Given the description of an element on the screen output the (x, y) to click on. 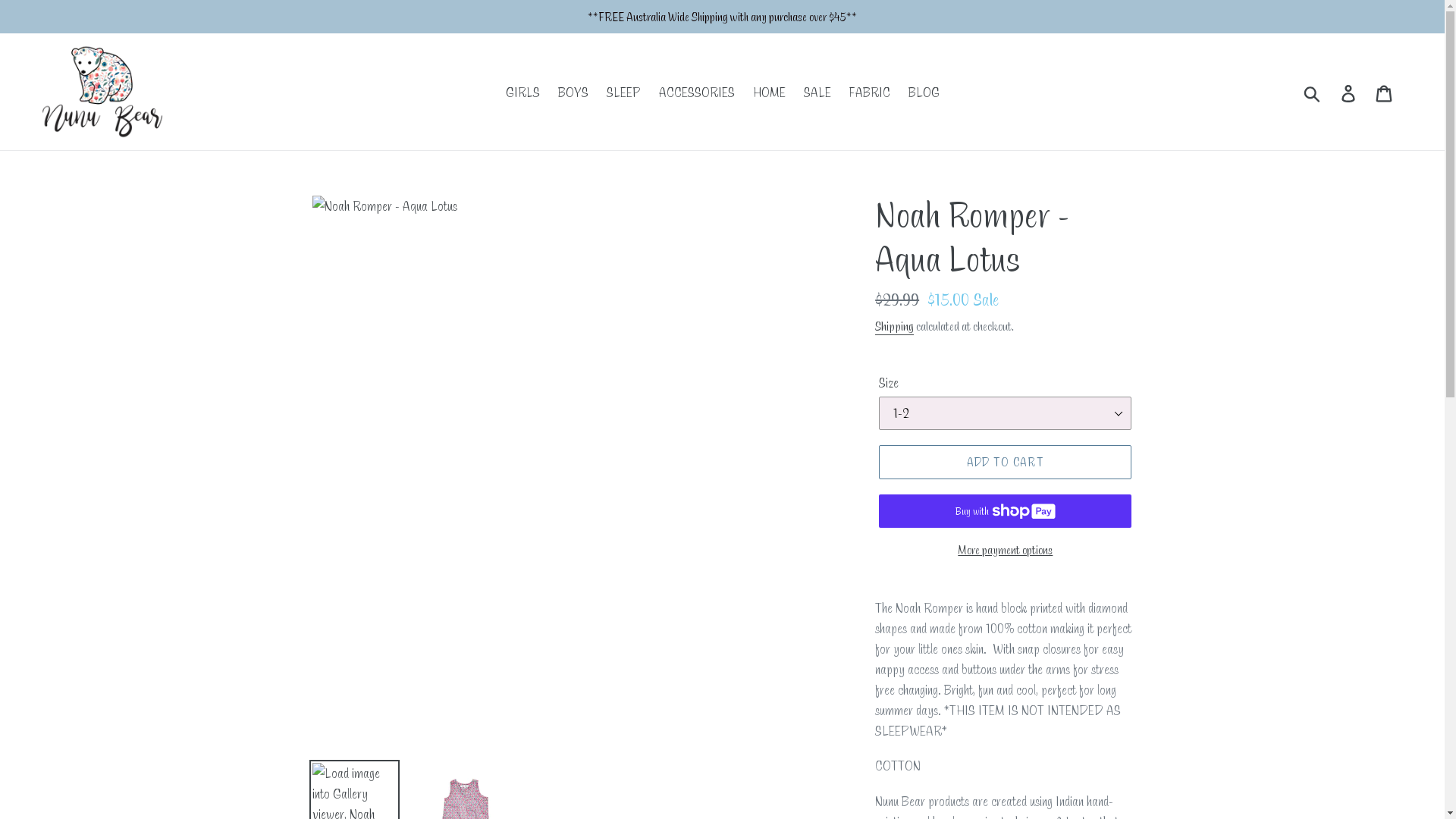
Shipping Element type: text (894, 326)
GIRLS Element type: text (521, 91)
ACCESSORIES Element type: text (695, 91)
SLEEP Element type: text (623, 91)
ADD TO CART Element type: text (1004, 461)
SALE Element type: text (817, 91)
BLOG Element type: text (923, 91)
Log in Element type: text (1349, 91)
**FREE Australia Wide Shipping with any purchase over $45** Element type: text (722, 16)
Cart Element type: text (1384, 91)
More payment options Element type: text (1004, 549)
FABRIC Element type: text (869, 91)
HOME Element type: text (768, 91)
BOYS Element type: text (573, 91)
Submit Element type: text (1312, 91)
